Given the description of an element on the screen output the (x, y) to click on. 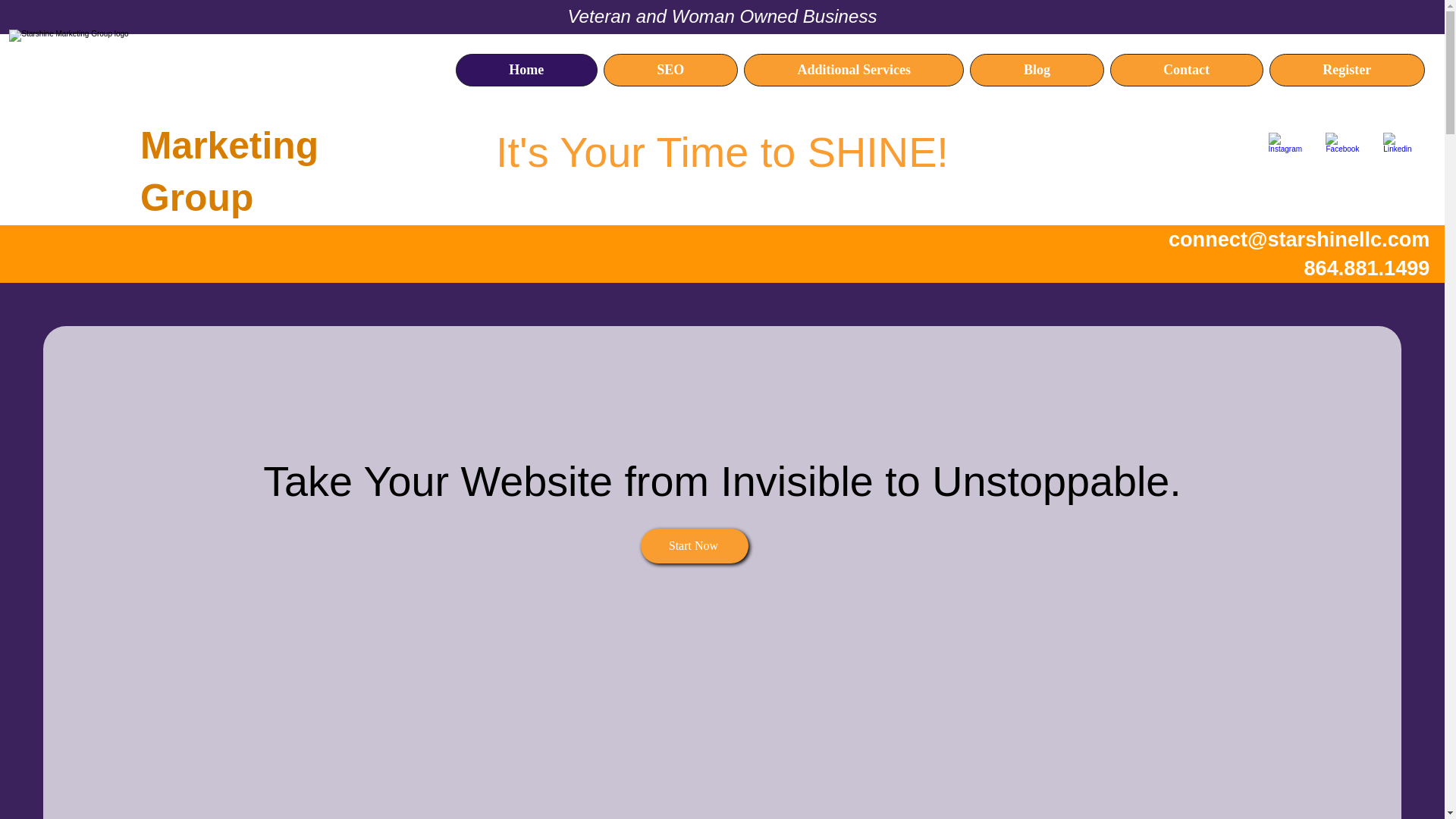
Contact (1186, 70)
Blog (1036, 70)
Home (525, 70)
Additional Services (853, 70)
Register (1347, 70)
SEO (671, 70)
Start Now (694, 545)
